Given the description of an element on the screen output the (x, y) to click on. 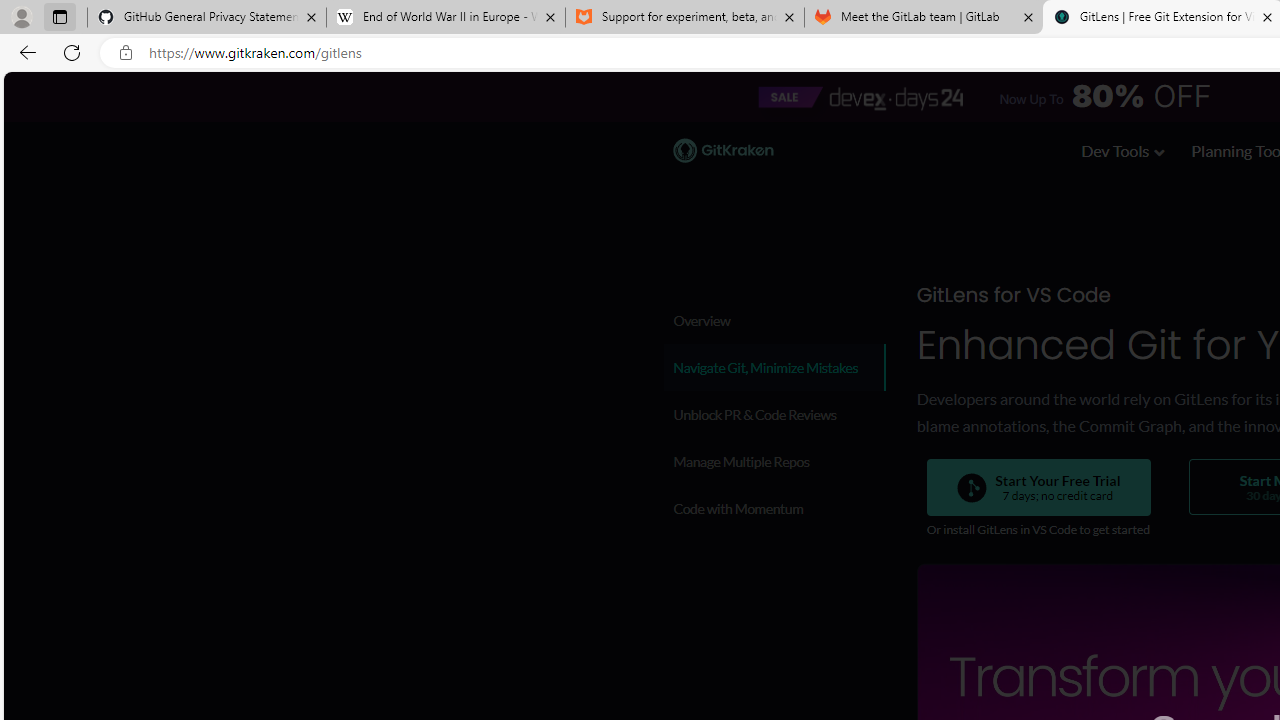
Unblock PR & Code Reviews (773, 414)
Navigate Git, Minimize Mistakes (773, 367)
Meet the GitLab team | GitLab (924, 17)
Or install GitLens in VS Code to get started (1037, 529)
Overview (774, 320)
Overview (773, 320)
Start Your Free Trial 7 days; no credit card (1037, 487)
Code with Momentum (774, 508)
Manage Multiple Repos (774, 461)
